Given the description of an element on the screen output the (x, y) to click on. 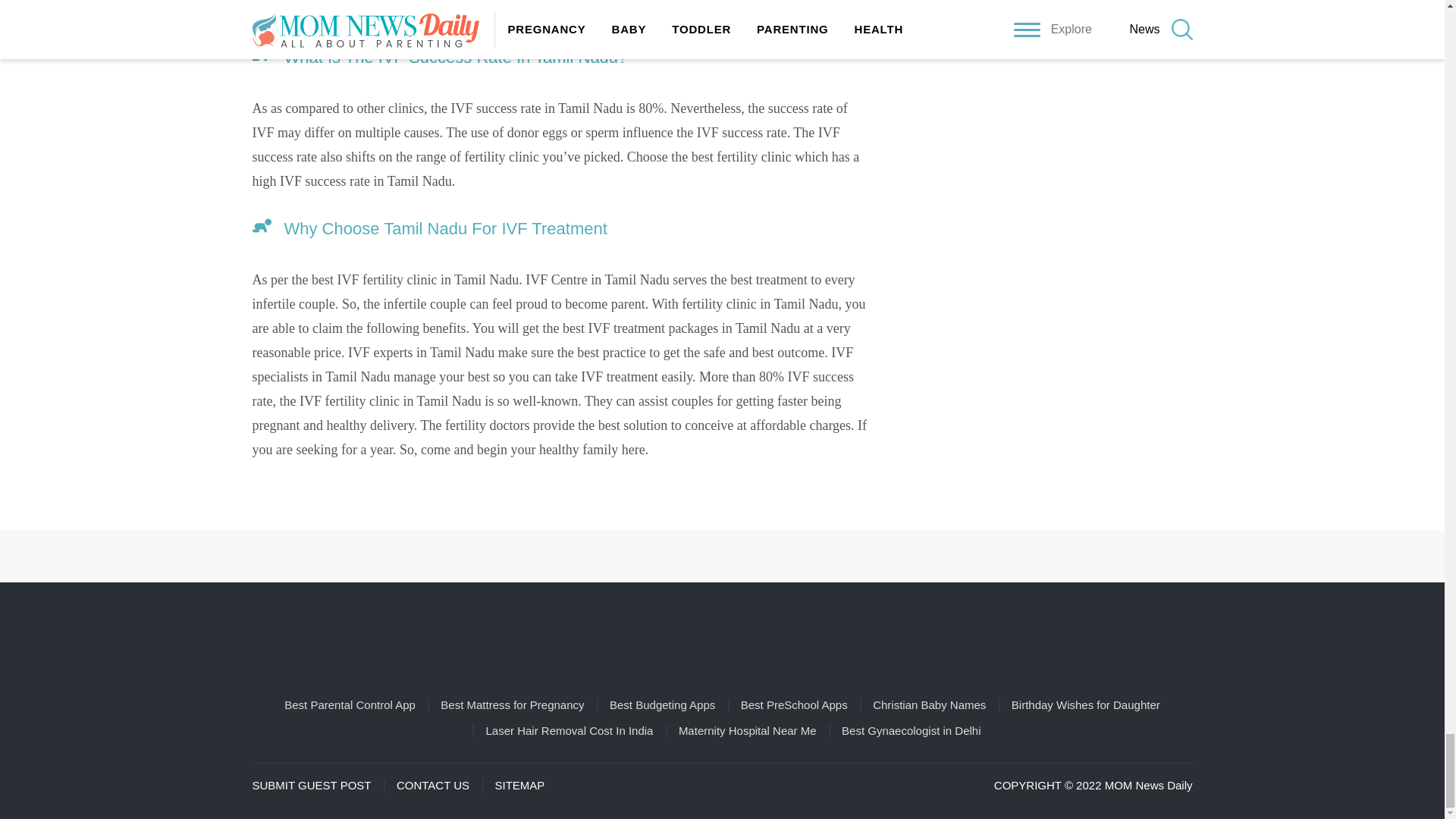
twitter (787, 555)
facebook (657, 555)
instagram (743, 555)
pinterest (700, 555)
